Given the description of an element on the screen output the (x, y) to click on. 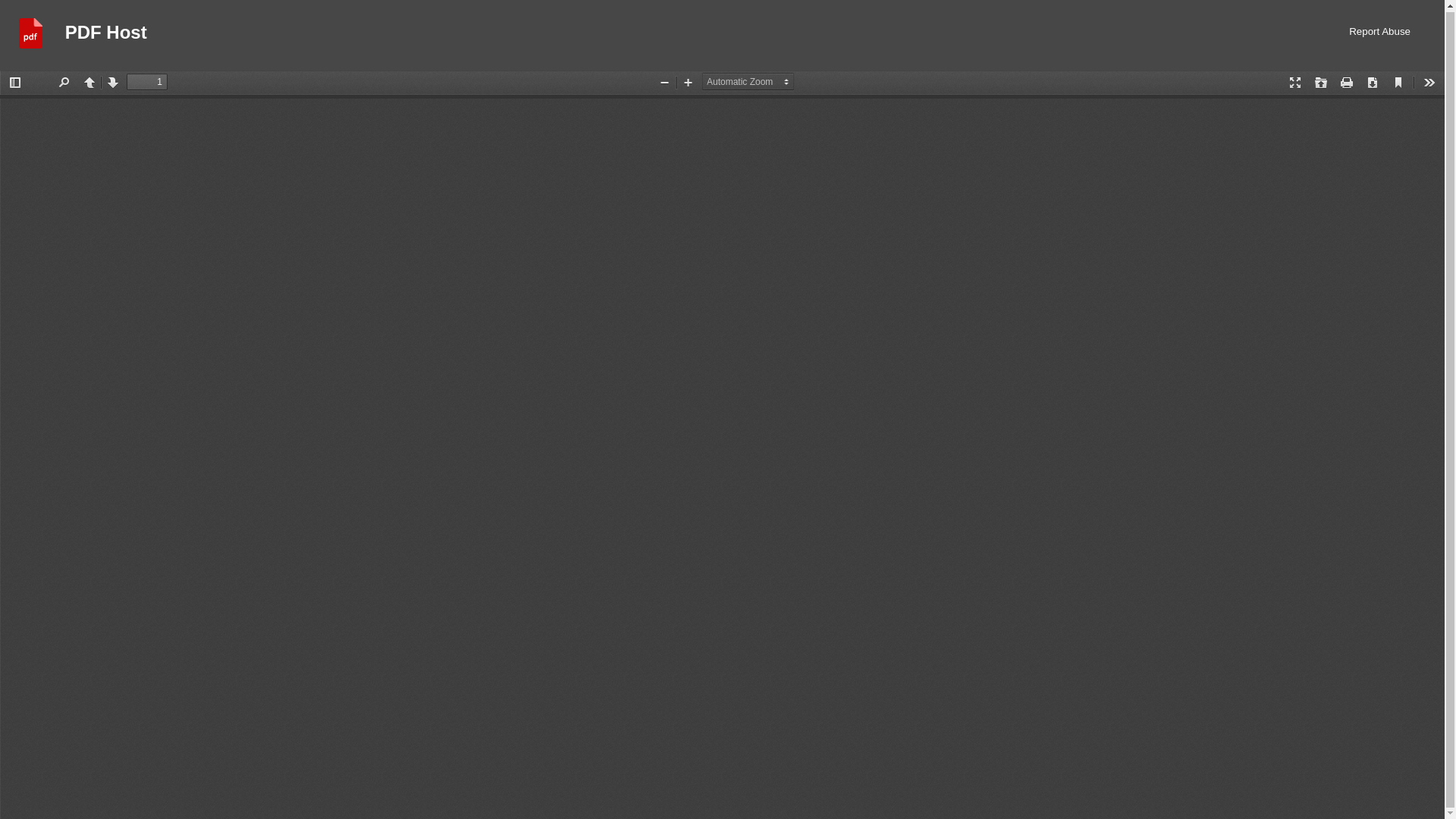
PDF Host (106, 34)
Report Abuse (1379, 34)
Toggle Sidebar (14, 81)
Find in Document (62, 81)
1 (146, 81)
